Given the description of an element on the screen output the (x, y) to click on. 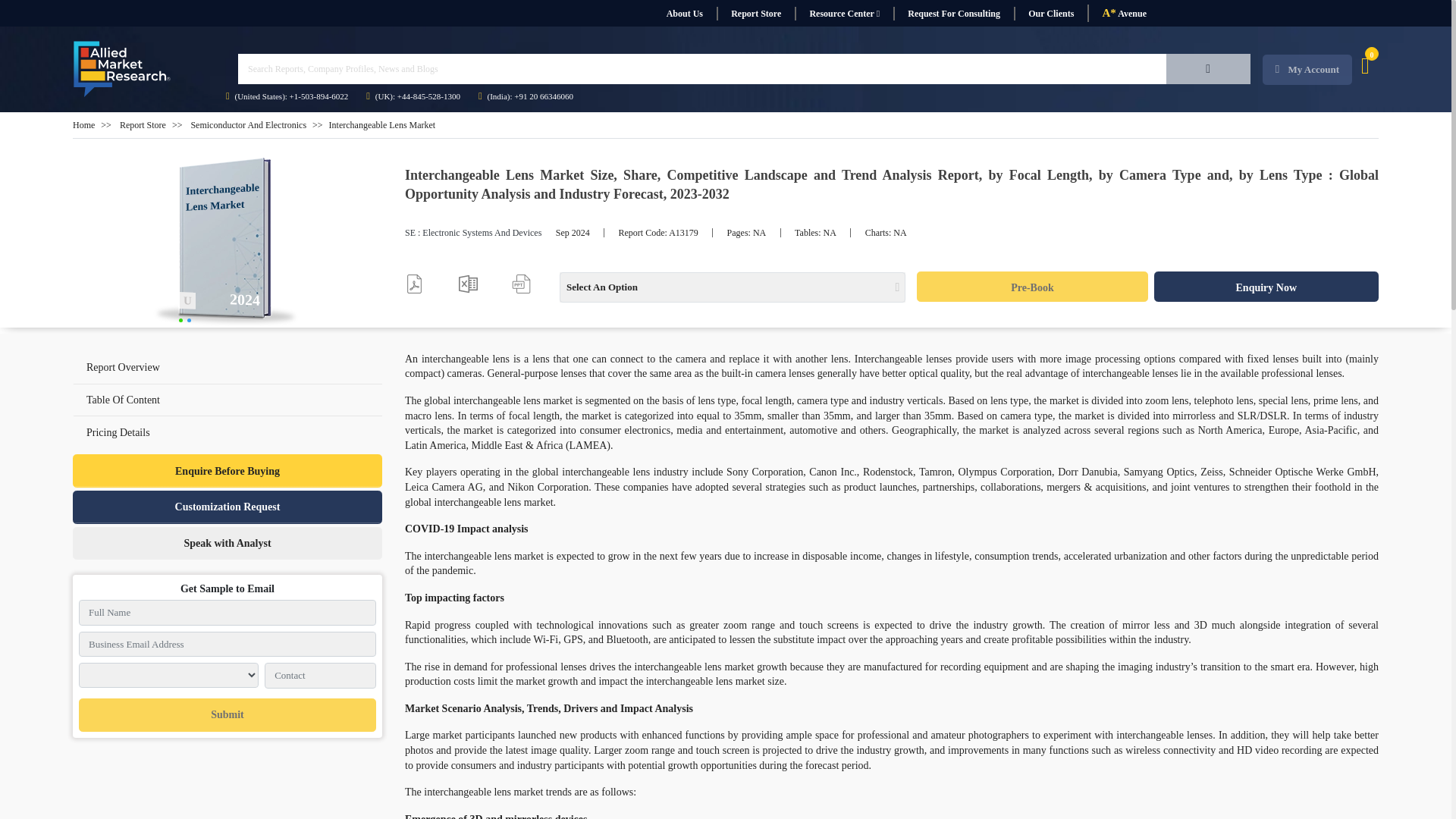
SE : Electronic Systems And Devices (472, 232)
About Us (684, 13)
Home (83, 124)
Semiconductor And Electronics (247, 124)
Resource Center (843, 13)
Table Of Content (122, 399)
Allied Market Research (121, 68)
Data Pack Excel (467, 283)
Allied Market Research (227, 242)
My Account (1307, 69)
